Given the description of an element on the screen output the (x, y) to click on. 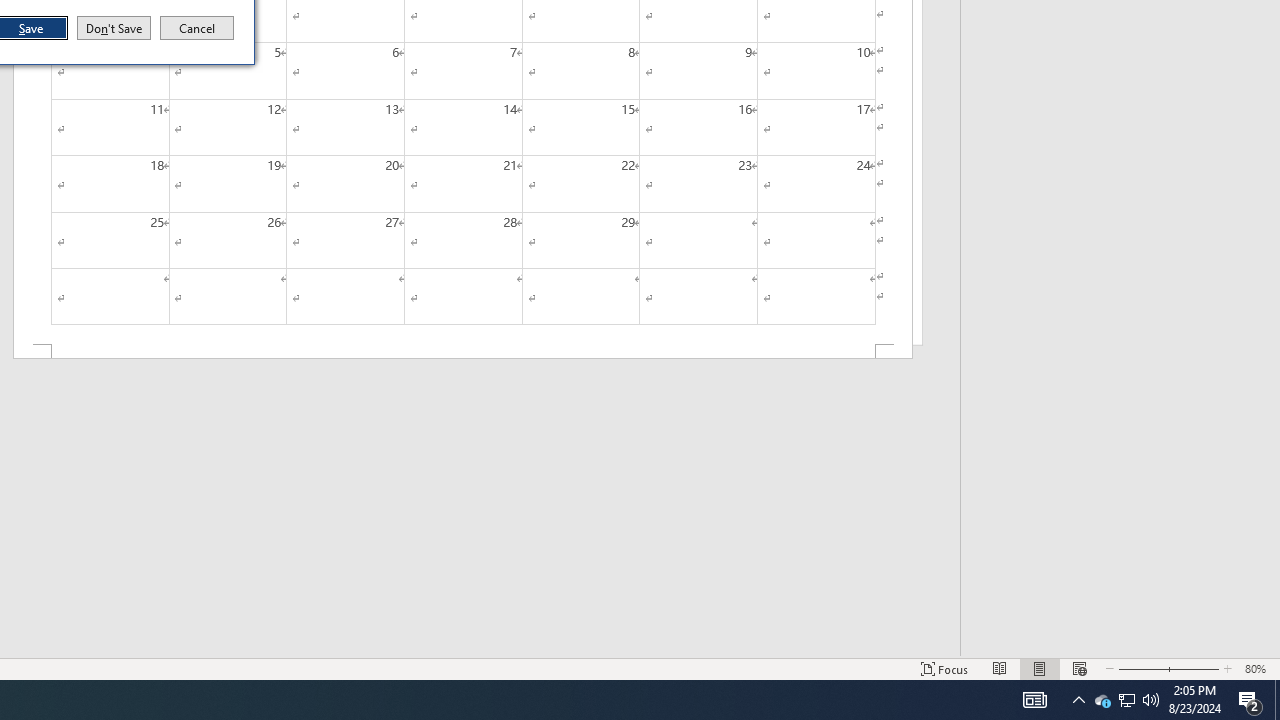
Cancel (197, 27)
Footer -Section 2- (1126, 699)
AutomationID: 4105 (462, 351)
User Promoted Notification Area (1034, 699)
